Given the description of an element on the screen output the (x, y) to click on. 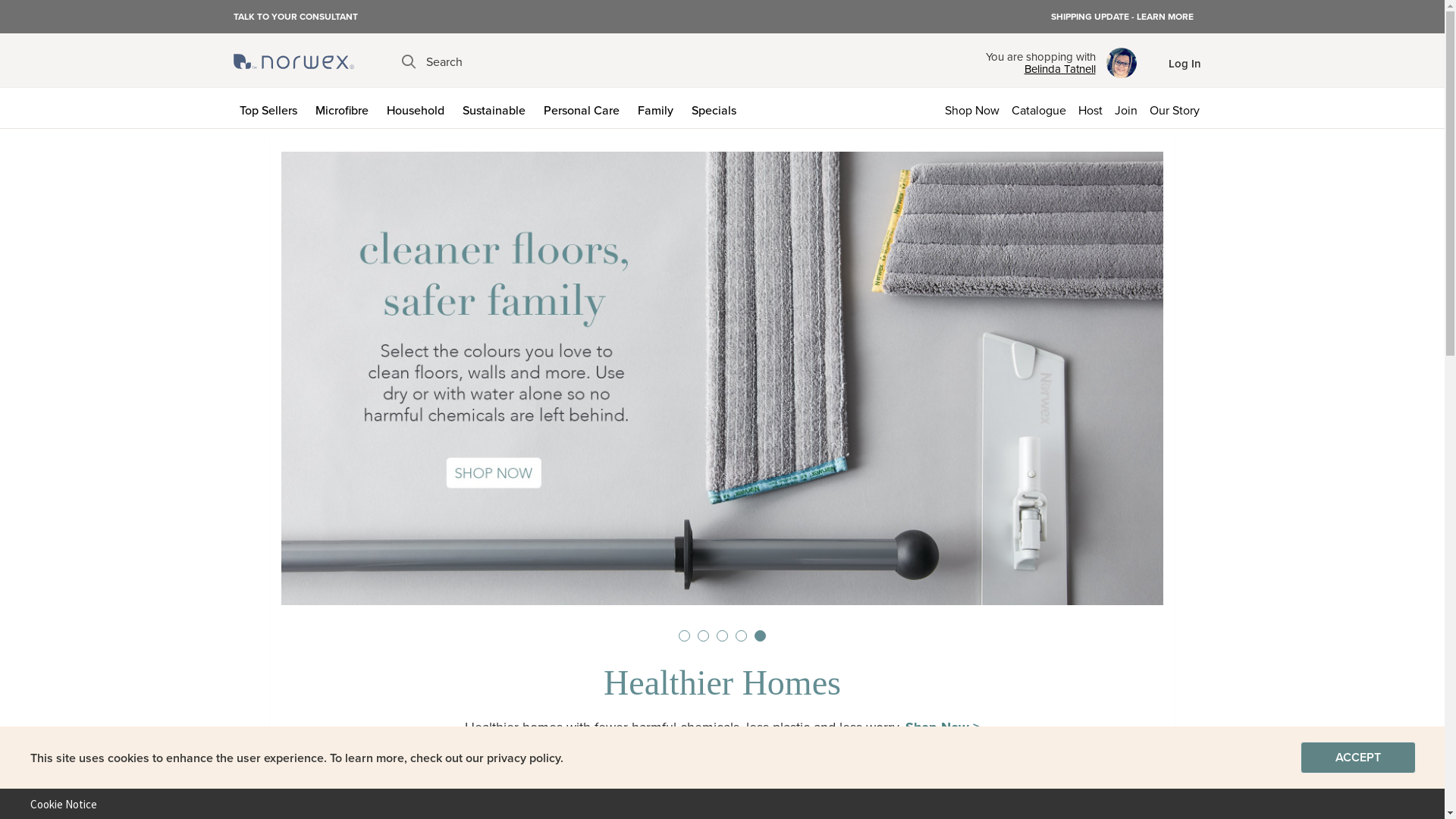
Cookie Notice Element type: text (57, 803)
Shop Now > Element type: text (942, 727)
Microfibre Element type: text (344, 107)
Specials Element type: text (716, 107)
Belinda Tatnell Element type: text (1040, 68)
Search Element type: text (431, 61)
Join Element type: text (1125, 107)
Sustainable Element type: text (496, 107)
Catalogue Element type: text (1038, 107)
Our Story Element type: text (1177, 107)
Household Element type: text (418, 107)
ACCEPT Element type: text (1357, 757)
SHIPPING UPDATE - LEARN MORE Element type: text (1122, 16)
Family Element type: text (657, 107)
Host Element type: text (1090, 107)
Shop Now Element type: text (971, 107)
Personal Care Element type: text (583, 107)
Top Sellers Element type: text (271, 107)
